Given the description of an element on the screen output the (x, y) to click on. 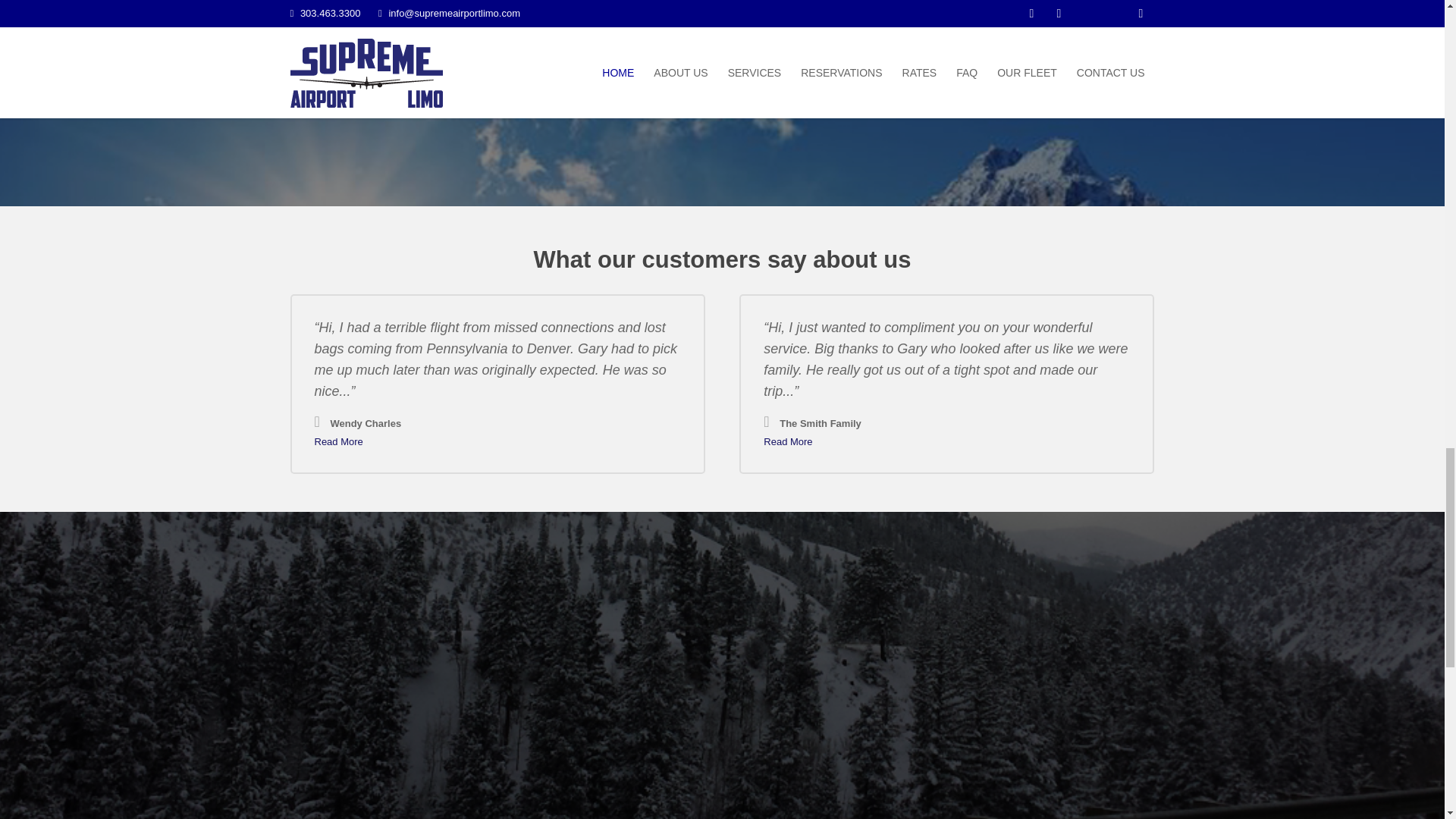
Read More (787, 441)
Read More (338, 441)
